Given the description of an element on the screen output the (x, y) to click on. 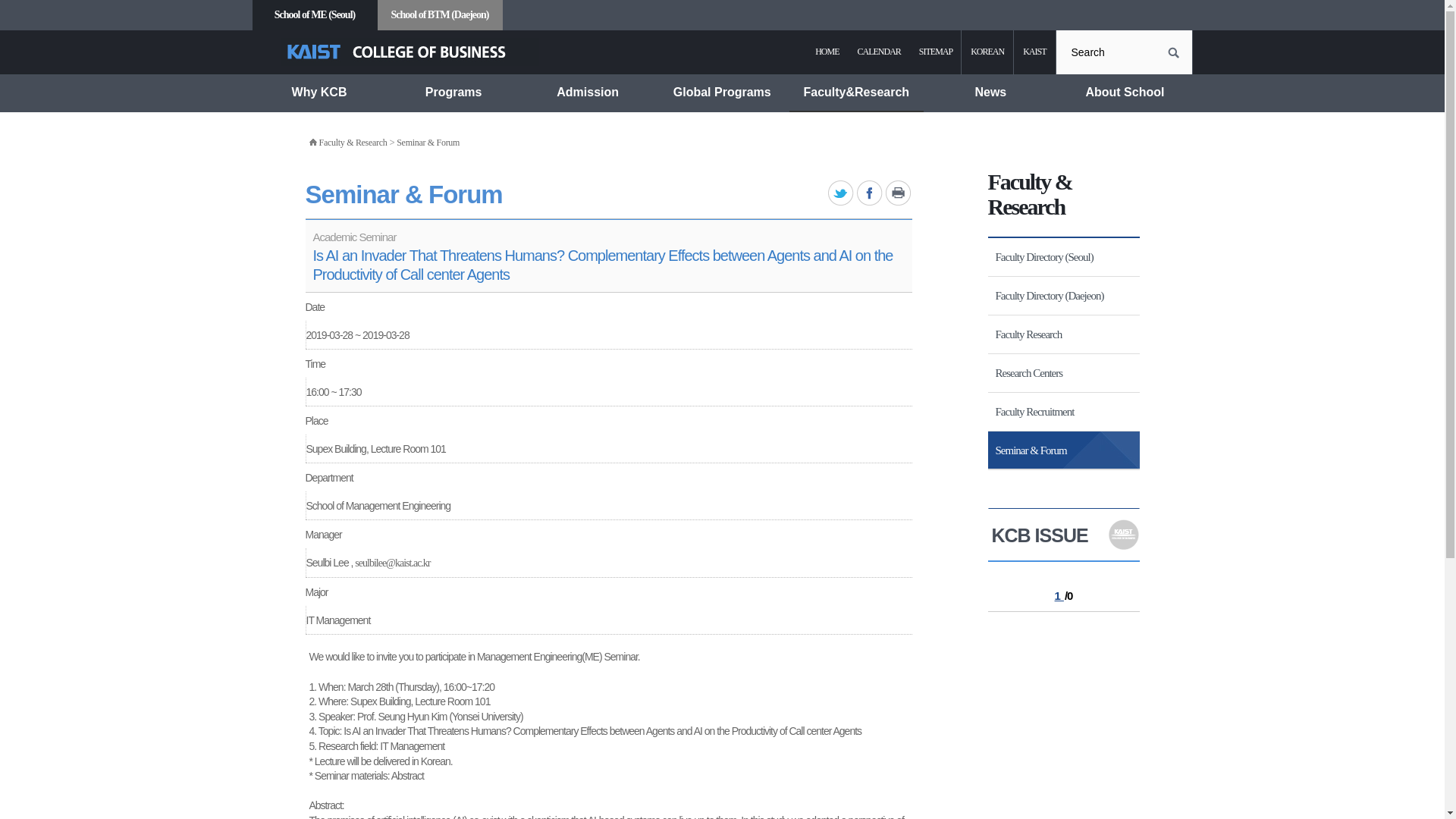
HOME (826, 52)
SITEMAP (935, 52)
Search (1123, 52)
KOREAN (986, 52)
KAIST COLLEGE OF BUSINESS (409, 51)
Why KCB (318, 92)
KAIST (1034, 52)
This is KCB (318, 120)
CALENDAR (877, 52)
Programs (454, 92)
